Given the description of an element on the screen output the (x, y) to click on. 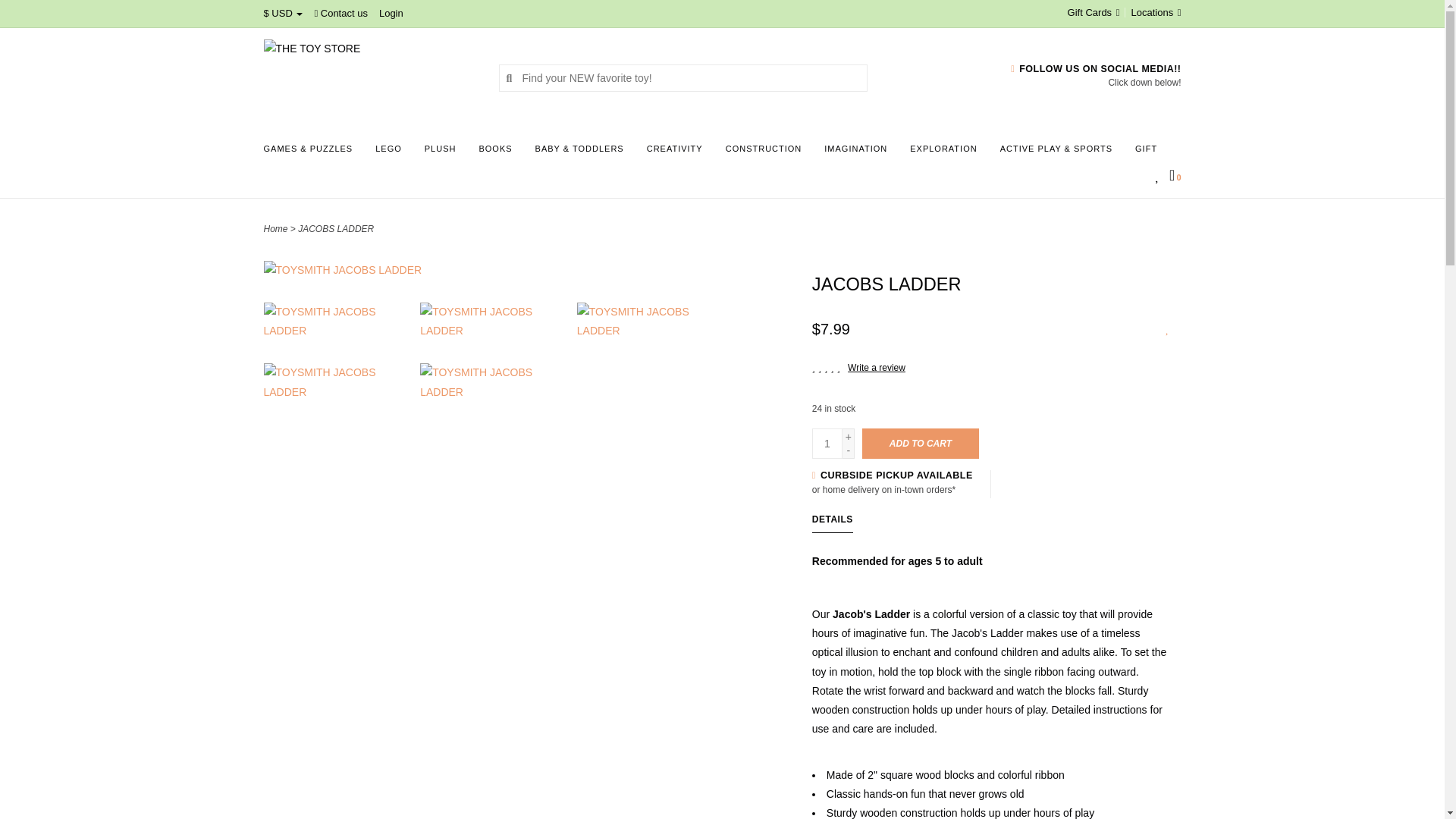
LEGO (392, 152)
THE TOY STORE (369, 77)
1 (827, 443)
My account (390, 12)
Login (390, 12)
Contact us (341, 12)
Locations (1152, 12)
Currency (282, 12)
